Given the description of an element on the screen output the (x, y) to click on. 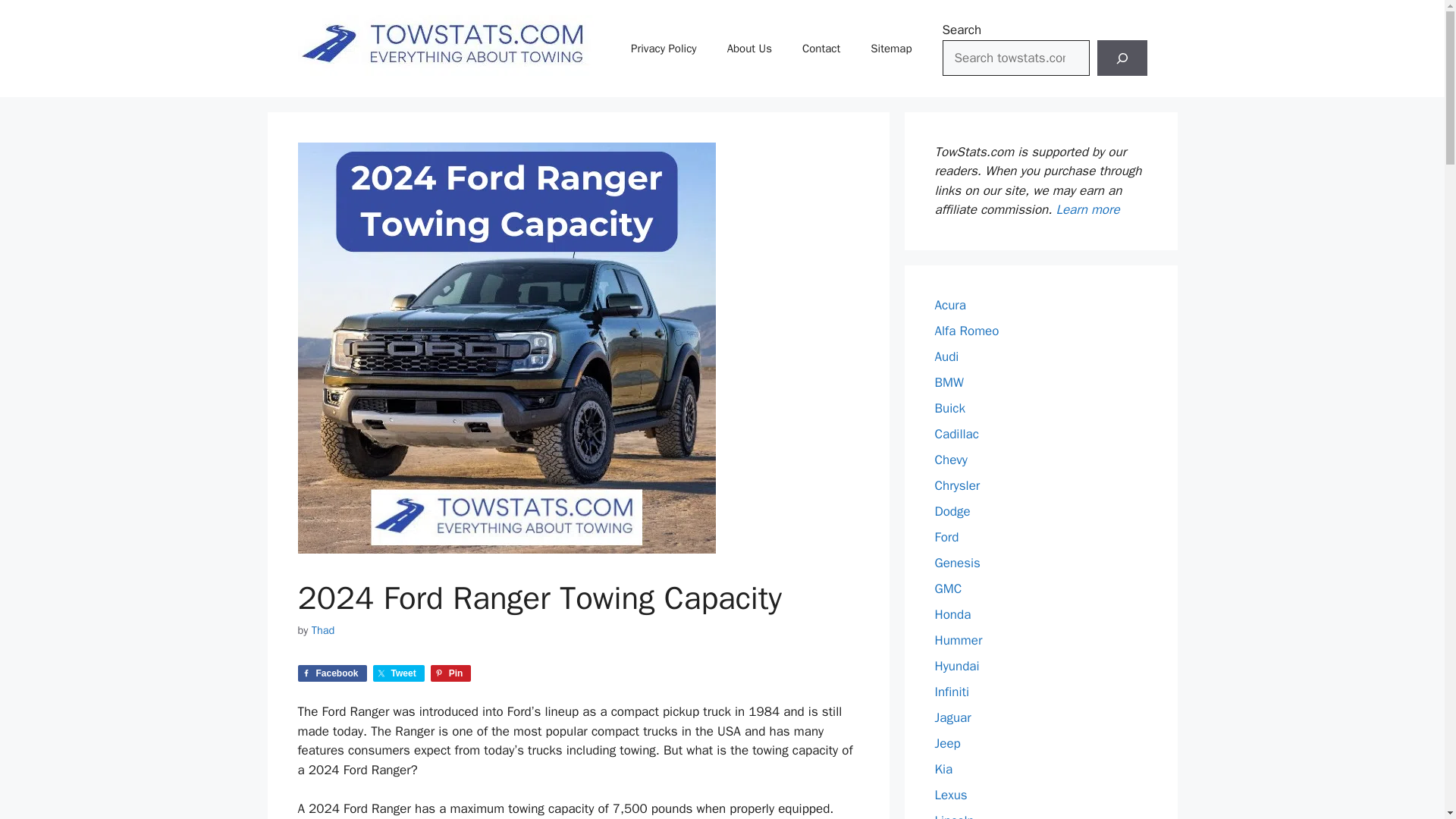
Privacy Policy (663, 48)
Facebook (331, 673)
Share on Twitter (398, 673)
About Us (749, 48)
Tweet (398, 673)
Share on Pinterest (450, 673)
Pin (450, 673)
Share on Facebook (331, 673)
View all posts by Thad (322, 630)
Sitemap (891, 48)
